Given the description of an element on the screen output the (x, y) to click on. 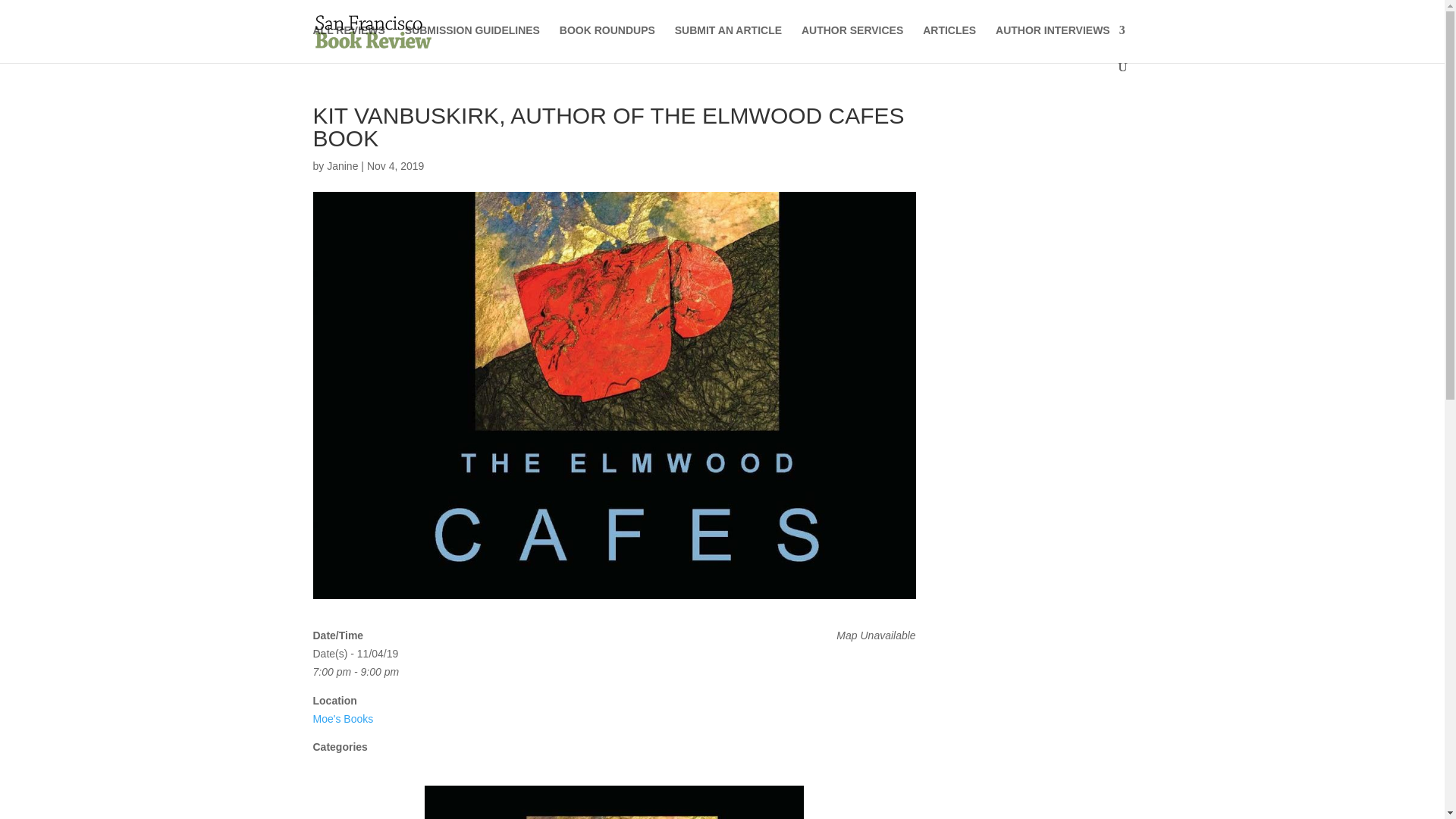
AUTHOR INTERVIEWS (1060, 42)
Janine (342, 165)
ALL REVIEWS (348, 42)
Moe's Books (342, 718)
SUBMISSION GUIDELINES (472, 42)
SUBMIT AN ARTICLE (728, 42)
AUTHOR SERVICES (852, 42)
Posts by Janine (342, 165)
BOOK ROUNDUPS (607, 42)
ARTICLES (949, 42)
